Given the description of an element on the screen output the (x, y) to click on. 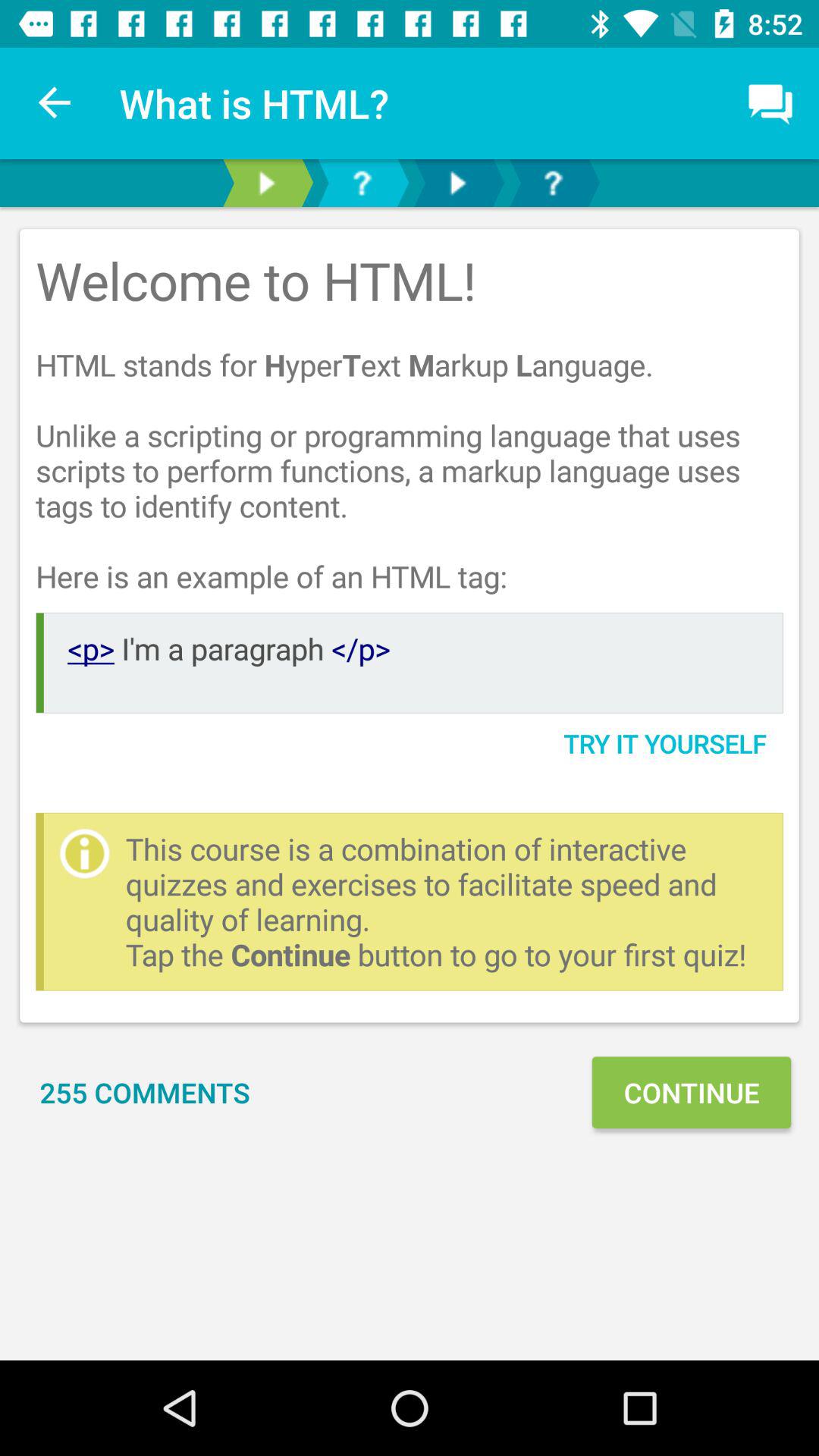
help (552, 183)
